Given the description of an element on the screen output the (x, y) to click on. 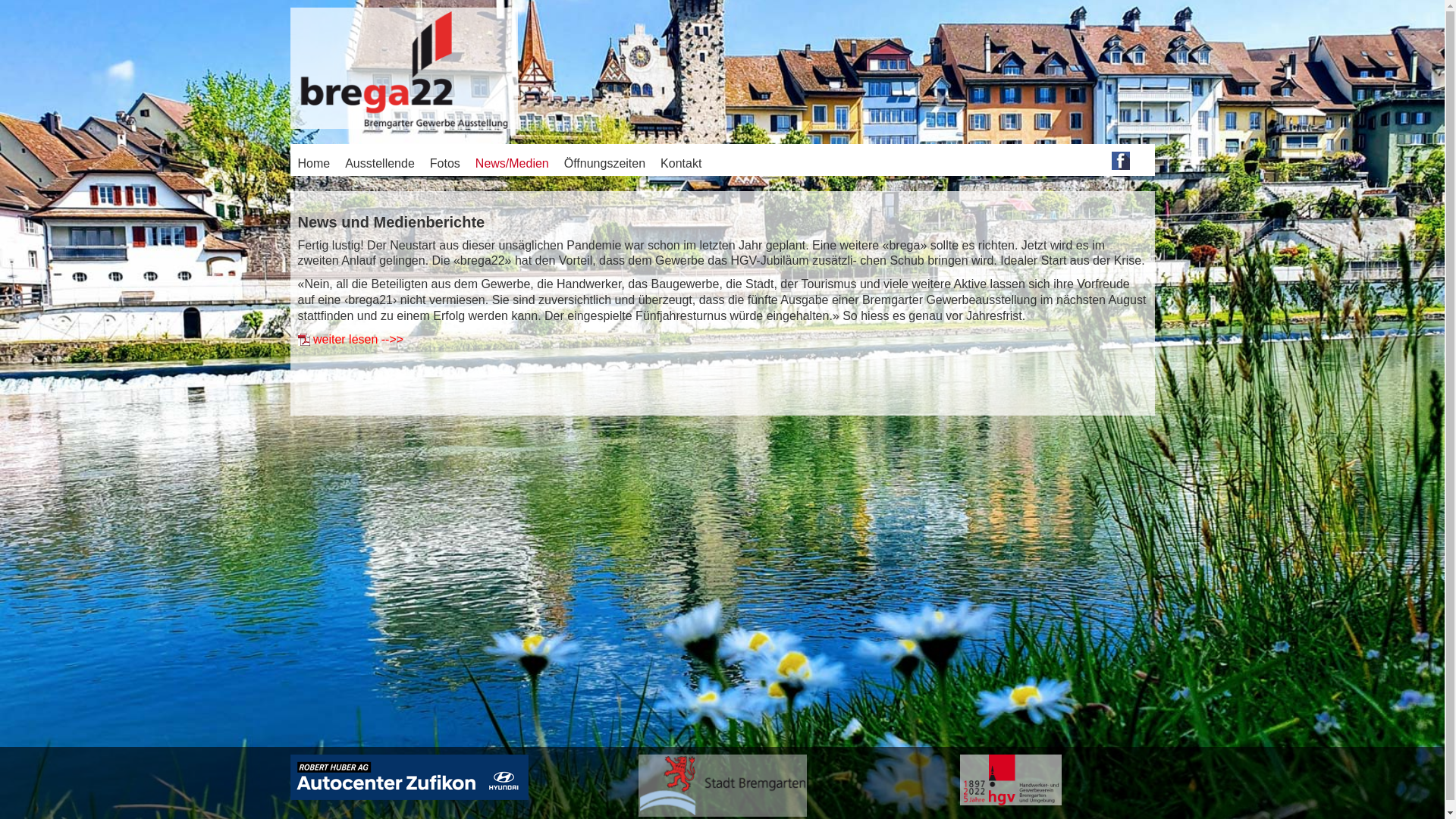
Ausstellende Element type: text (387, 162)
Fotos Element type: text (452, 162)
weiter lesen -->> Element type: text (358, 338)
Robert Huber AG - Autocenter Zufikon - HYUNDAI Element type: hover (408, 775)
Home Element type: text (321, 162)
Robert Huber AG - Autocenter Zufikon - HYUNDAI Element type: hover (408, 777)
Handwerker- und Gewerbeverein Bremgarten Element type: hover (1010, 778)
Stadt Bremgarten Element type: hover (722, 784)
Startseite von brega21 - Gewerbeausstellung Bremgarten Element type: hover (404, 68)
PDF-Icon Element type: hover (303, 339)
Brega, Gewerbeausstellung 2021 in Bremgarten - Logo Element type: hover (404, 69)
Stadt Bremgarten Element type: hover (722, 785)
Logo HGV Element type: hover (1010, 779)
facebook-icon Element type: hover (1120, 160)
News/Medien Element type: text (519, 162)
brega21 auf Facebook Element type: hover (1120, 159)
Kontakt Element type: text (688, 162)
